Given the description of an element on the screen output the (x, y) to click on. 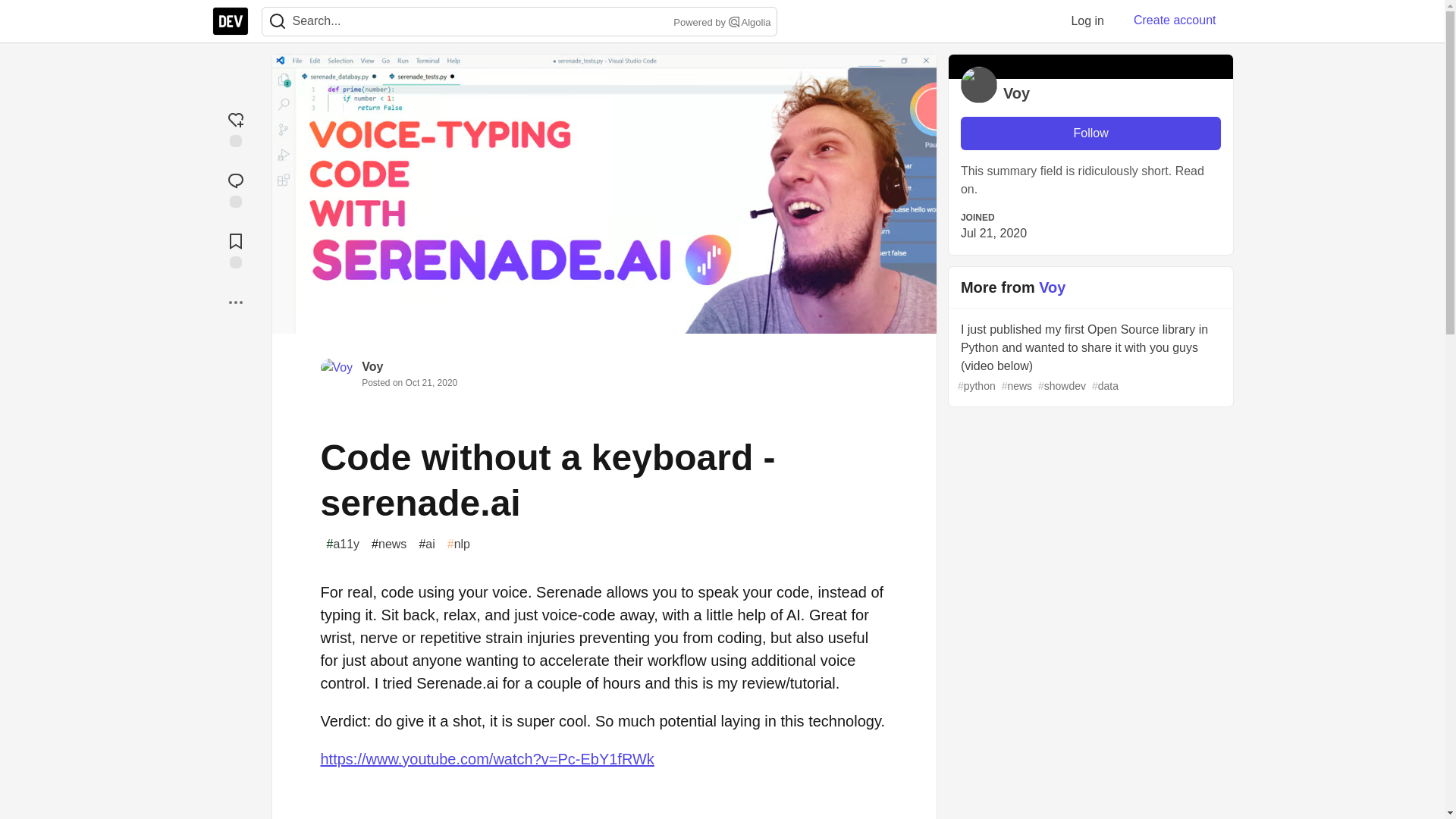
More... (234, 302)
Voy (371, 366)
Search (276, 21)
Create account (1174, 20)
Search (277, 21)
More... (234, 302)
Log in (1087, 20)
Search (734, 21)
Powered by Search Algolia (720, 22)
